Given the description of an element on the screen output the (x, y) to click on. 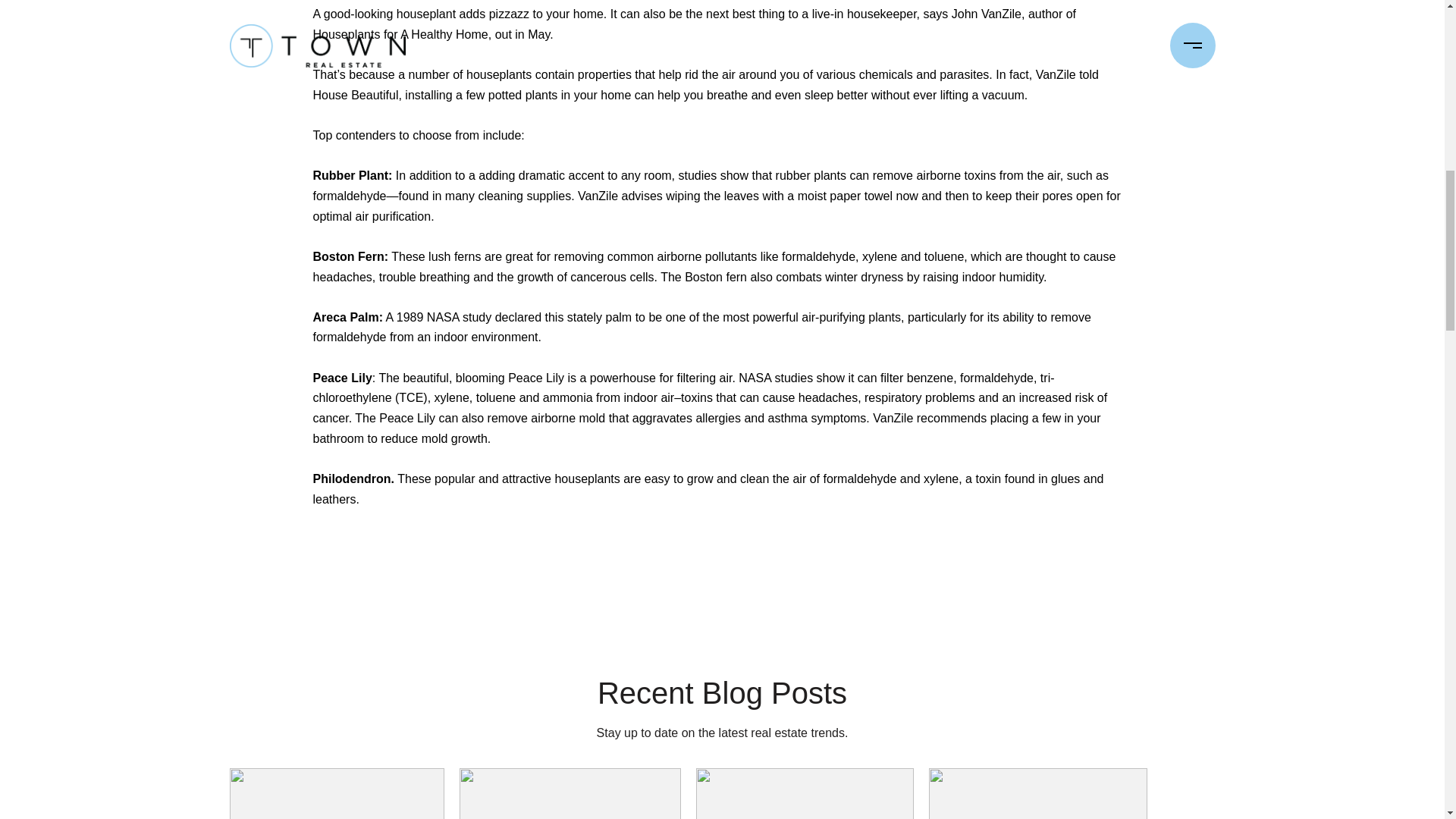
April East Bay Market Update (1038, 793)
June East Bay Market Update (570, 793)
July East Bay Market Update (336, 793)
May East Bay Market Update (803, 793)
